Given the description of an element on the screen output the (x, y) to click on. 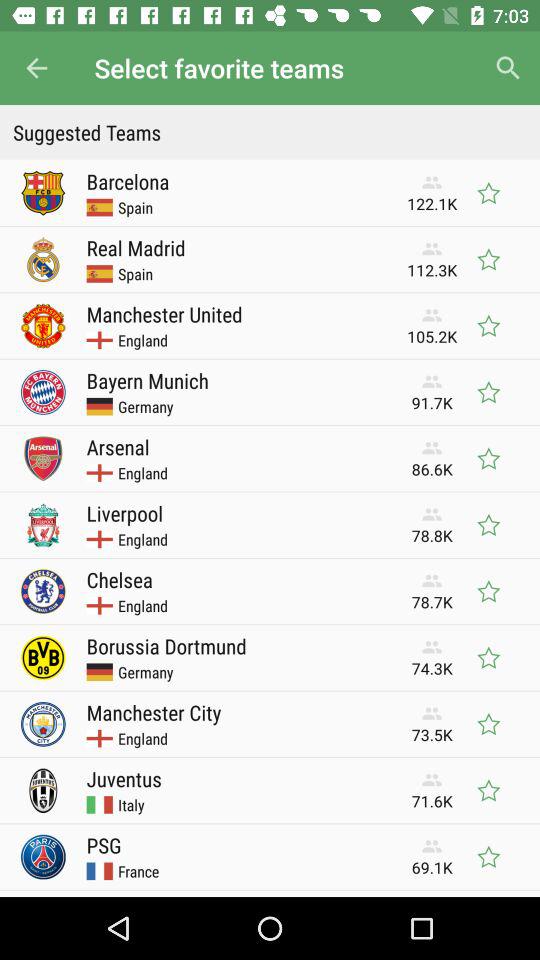
open the icon to the left of select favorite teams icon (36, 68)
